Given the description of an element on the screen output the (x, y) to click on. 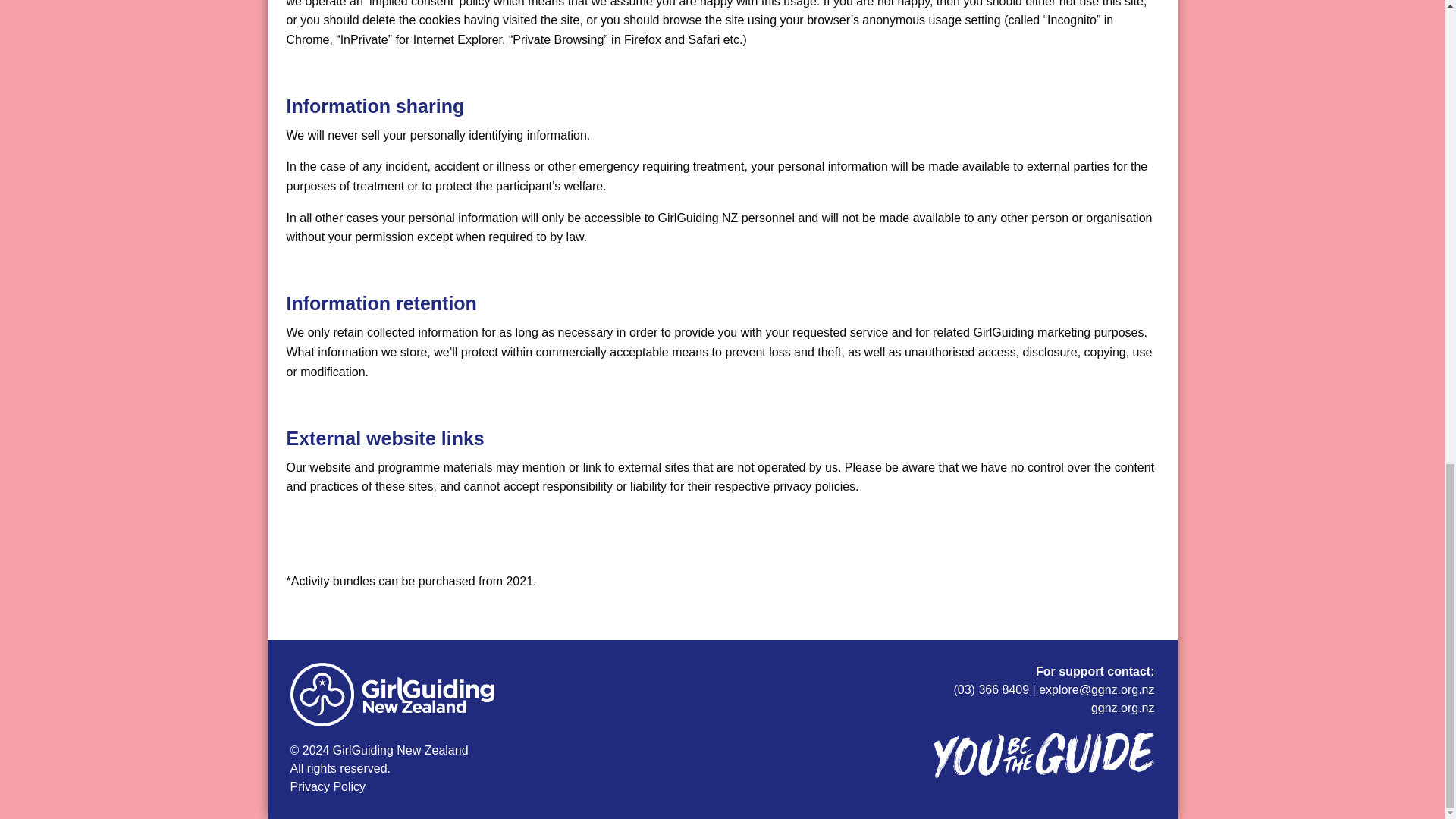
Privacy Policy (327, 786)
